Given the description of an element on the screen output the (x, y) to click on. 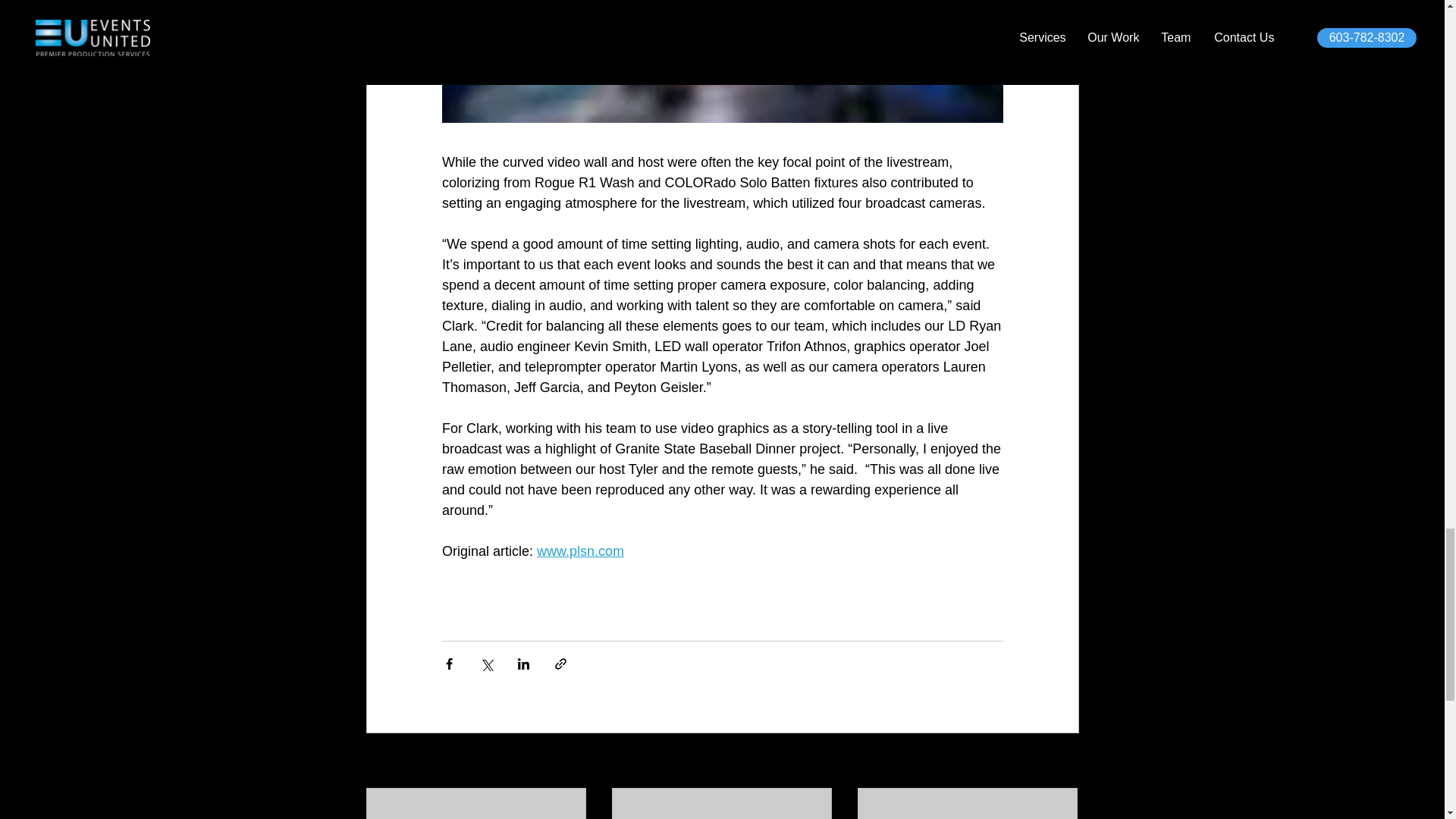
See All (1061, 762)
www.plsn.com (580, 550)
